Given the description of an element on the screen output the (x, y) to click on. 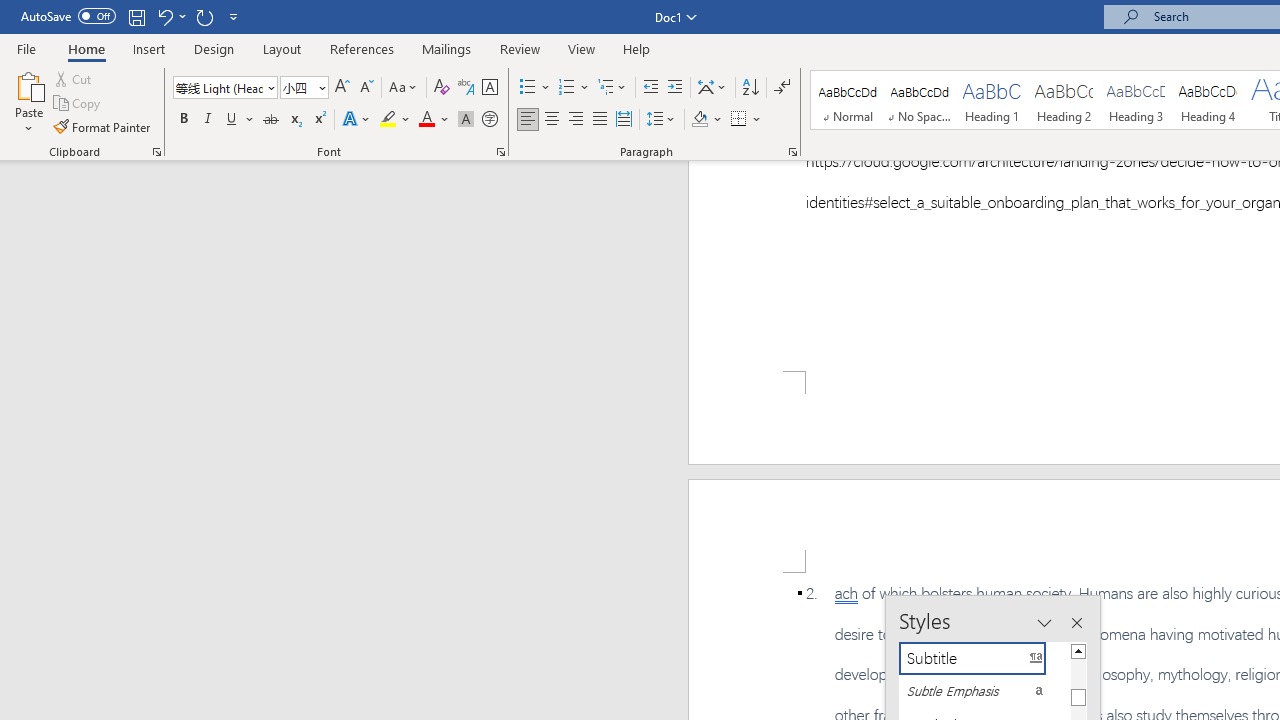
Subscript (294, 119)
Review (520, 48)
Save (136, 15)
More Options (757, 119)
Align Right (575, 119)
Asian Layout (712, 87)
Font Size (304, 87)
Font Color Automatic (426, 119)
Class: NetUIImage (971, 691)
File Tab (26, 48)
Heading 1 (991, 100)
Bold (183, 119)
Center (552, 119)
Font Size (297, 87)
